Given the description of an element on the screen output the (x, y) to click on. 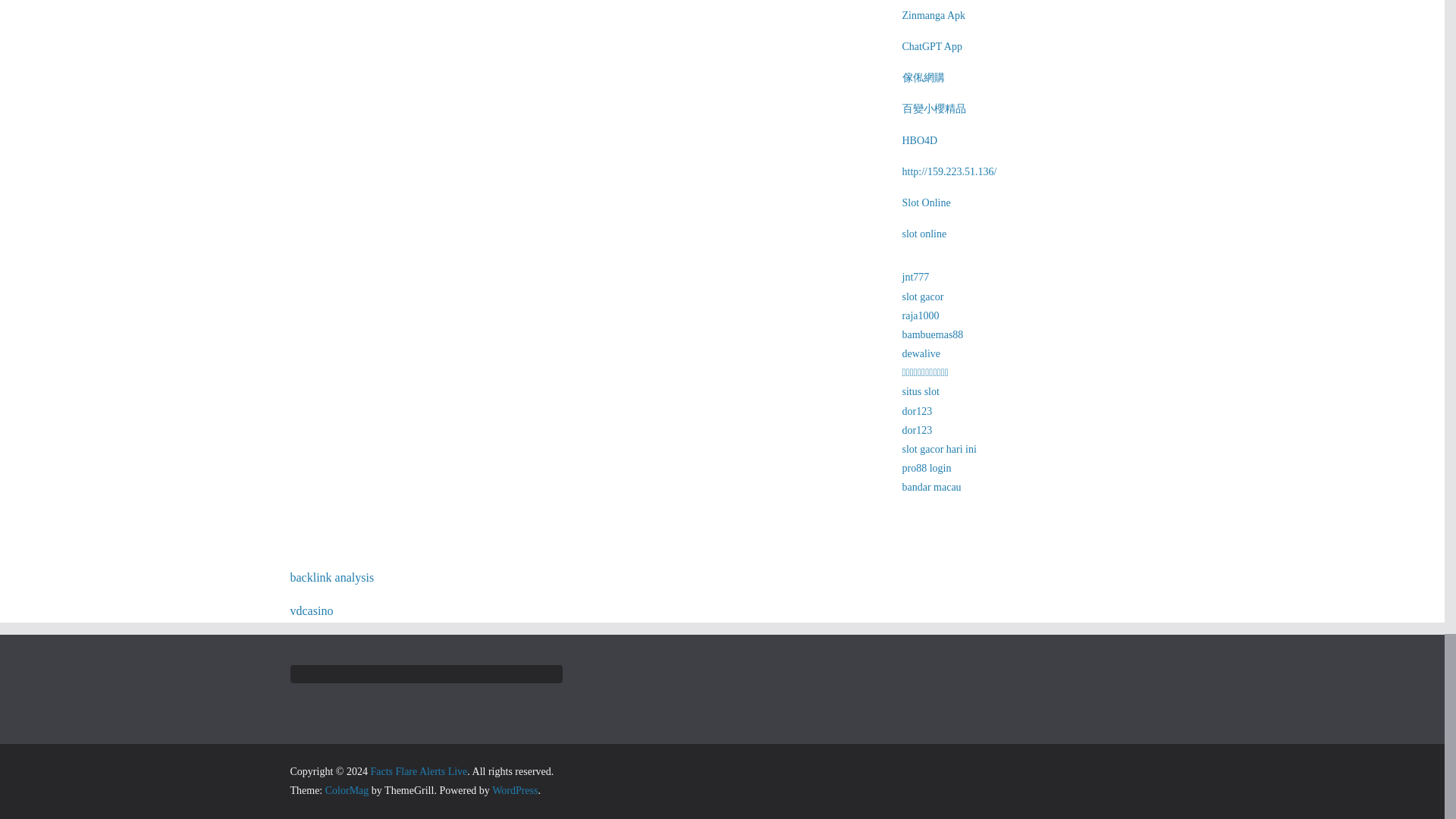
ColorMag (346, 790)
Facts Flare Alerts Live (418, 771)
WordPress (514, 790)
